Given the description of an element on the screen output the (x, y) to click on. 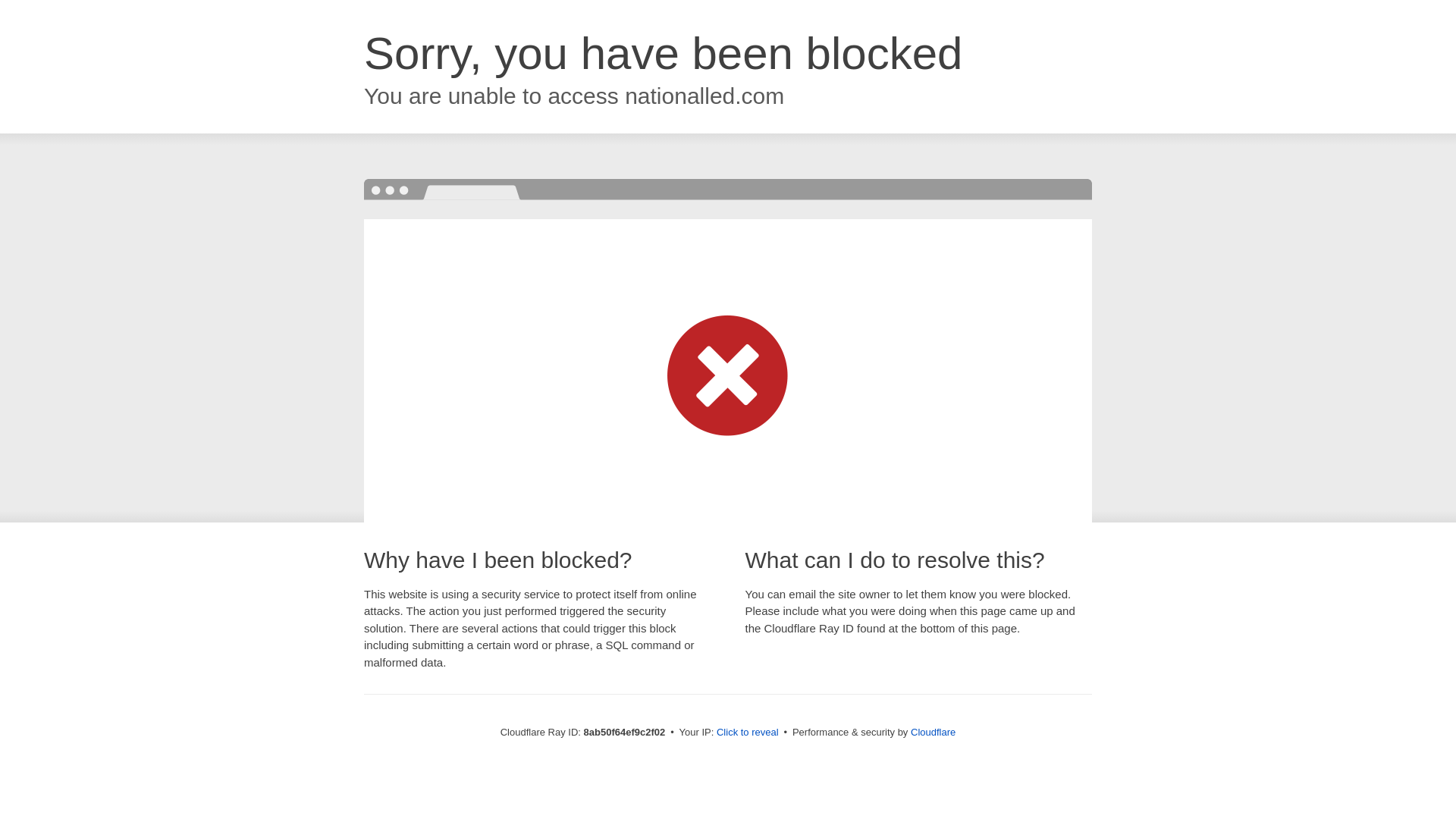
Click to reveal (747, 732)
Cloudflare (933, 731)
